Given the description of an element on the screen output the (x, y) to click on. 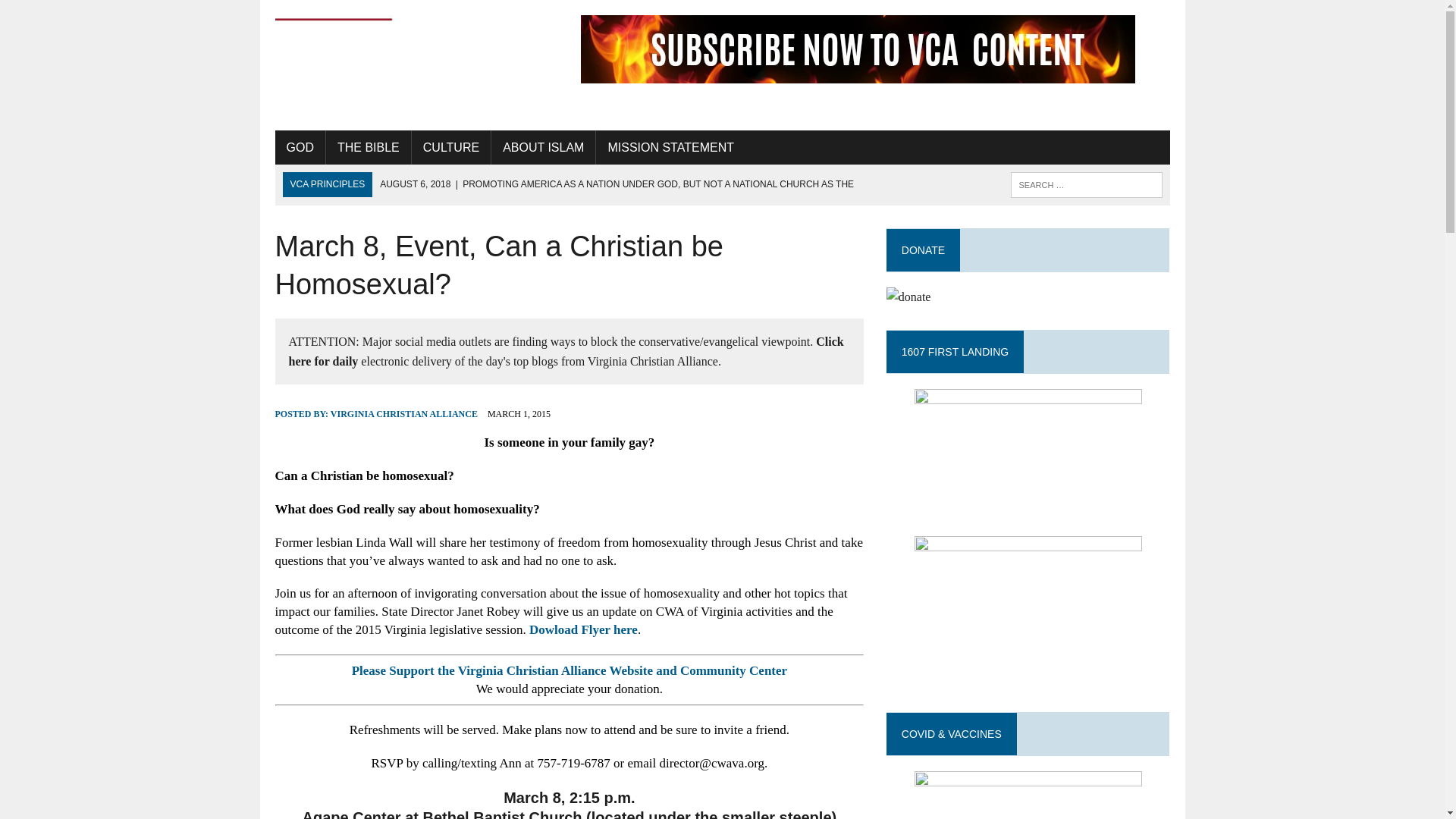
GOD (299, 147)
VIRGINIA CHRISTIAN ALLIANCE (403, 413)
MISSION STATEMENT (670, 147)
Search (75, 14)
Dowload Flyer here (583, 629)
Virginia Christian Alliance (416, 65)
ABOUT ISLAM (543, 147)
THE BIBLE (368, 147)
